Given the description of an element on the screen output the (x, y) to click on. 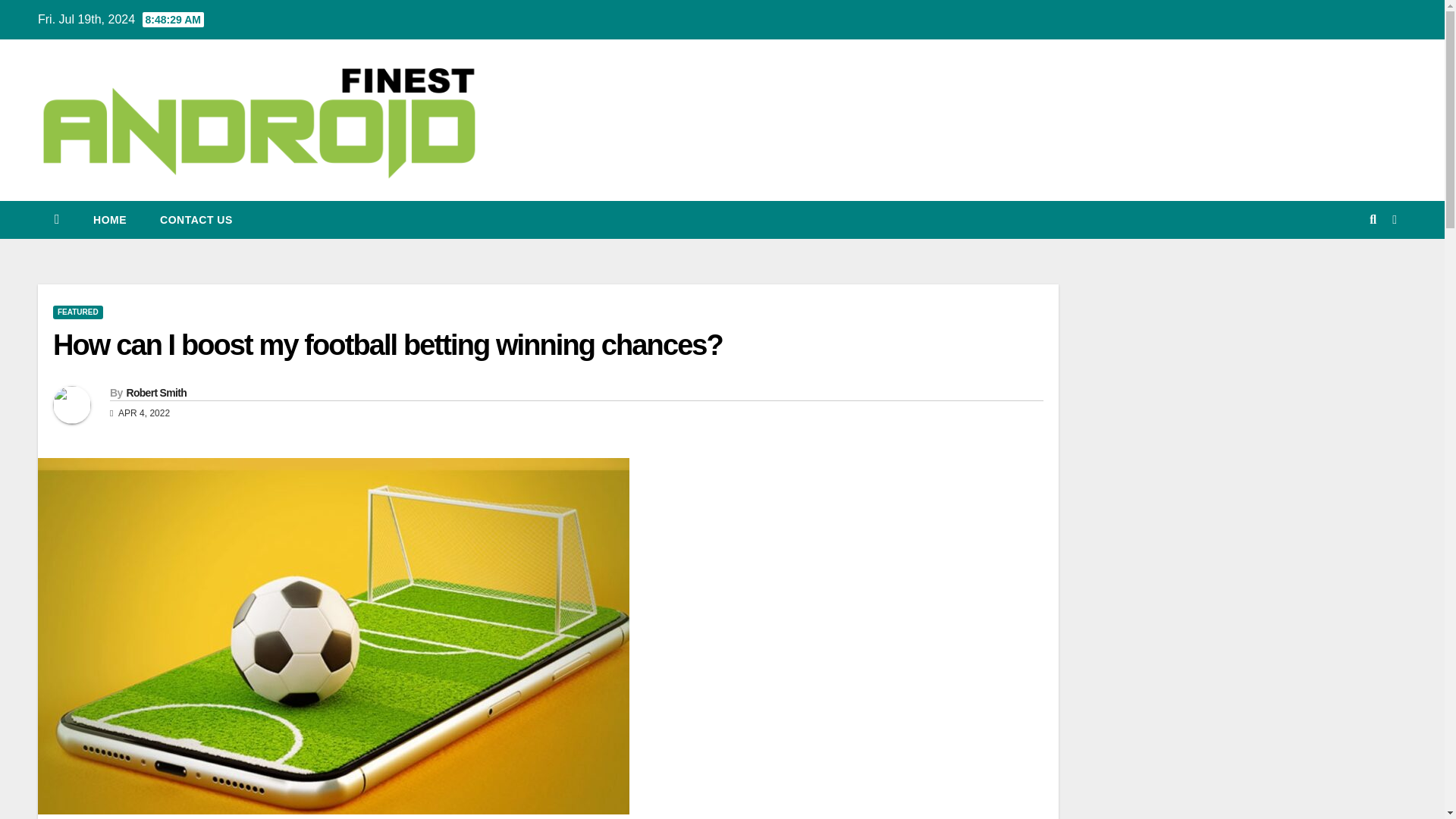
Contact us (195, 219)
CONTACT US (195, 219)
FEATURED (77, 312)
How can I boost my football betting winning chances? (387, 345)
Home (109, 219)
Robert Smith (155, 392)
HOME (109, 219)
